Given the description of an element on the screen output the (x, y) to click on. 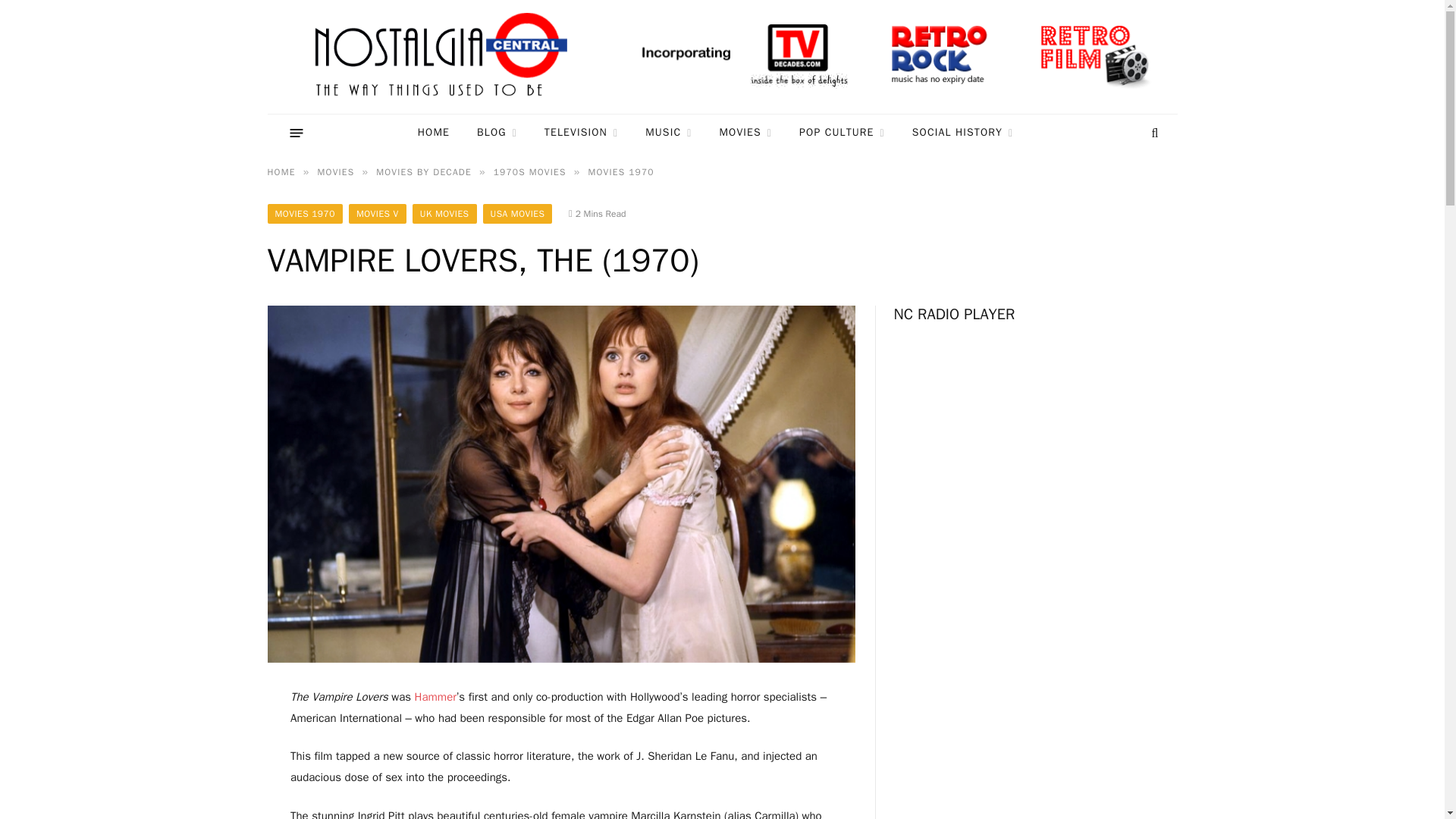
TELEVISION (581, 132)
BLOG (497, 132)
Nostalgia Central (444, 56)
HOME (433, 132)
